Given the description of an element on the screen output the (x, y) to click on. 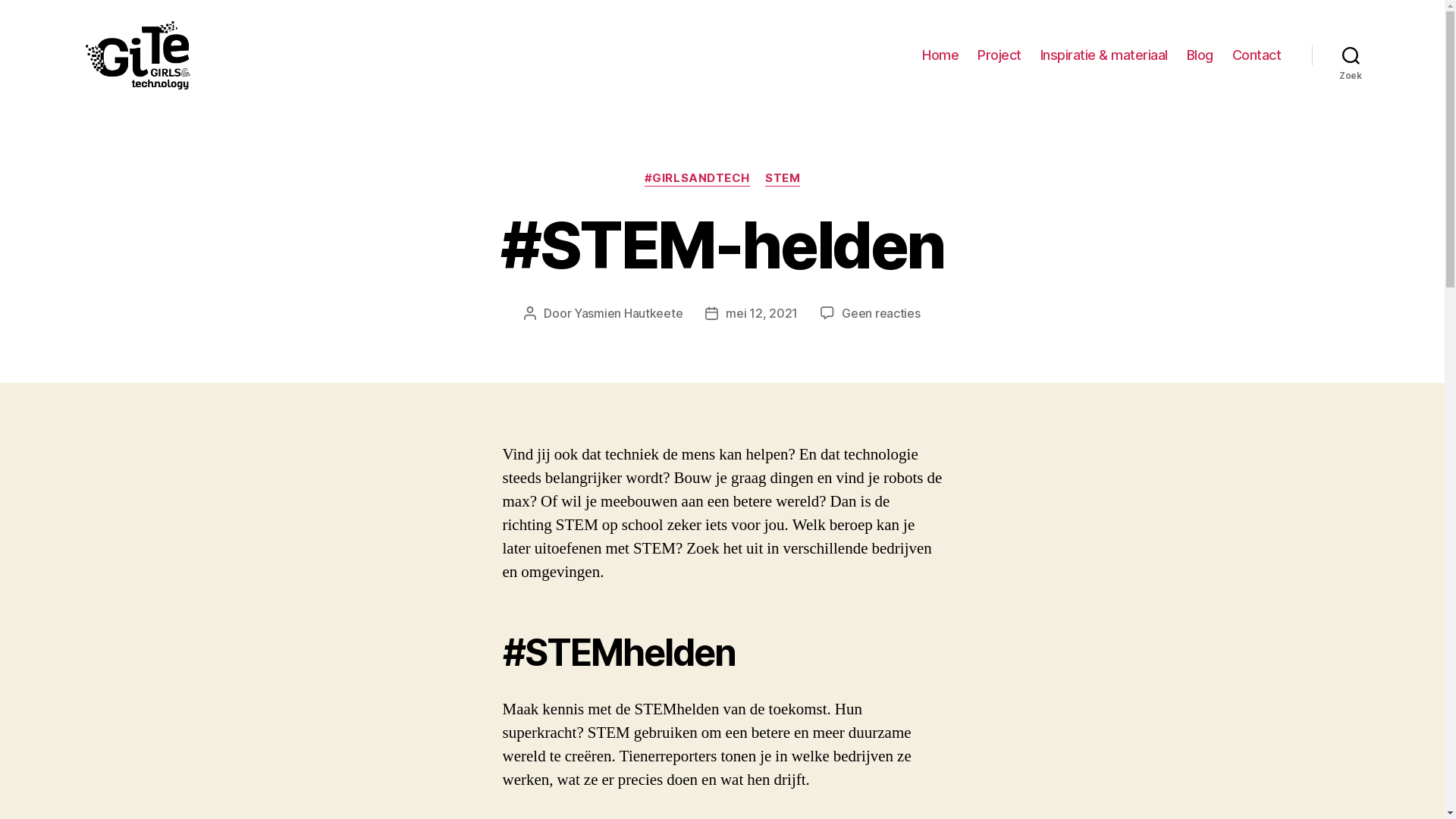
Blog Element type: text (1199, 55)
#GIRLSANDTECH Element type: text (696, 178)
Geen reacties
op #STEM-helden Element type: text (880, 312)
Home Element type: text (940, 55)
Contact Element type: text (1256, 55)
Yasmien Hautkeete Element type: text (628, 312)
Project Element type: text (999, 55)
Zoek Element type: text (1350, 55)
Inspiratie & materiaal Element type: text (1103, 55)
STEM Element type: text (782, 178)
mei 12, 2021 Element type: text (761, 312)
